Given the description of an element on the screen output the (x, y) to click on. 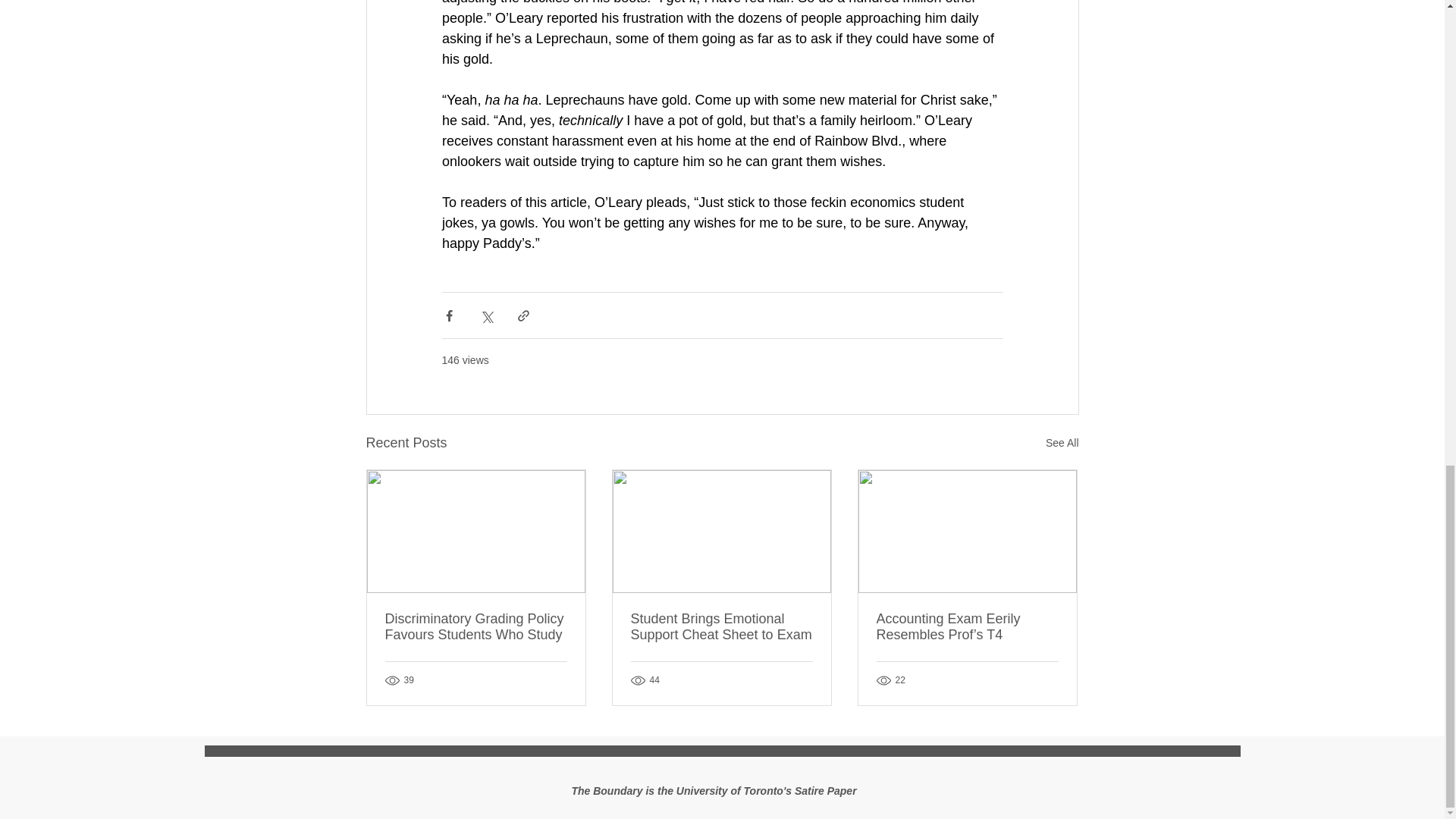
Student Brings Emotional Support Cheat Sheet to Exam (721, 626)
See All (1061, 443)
Discriminatory Grading Policy Favours Students Who Study (476, 626)
